Given the description of an element on the screen output the (x, y) to click on. 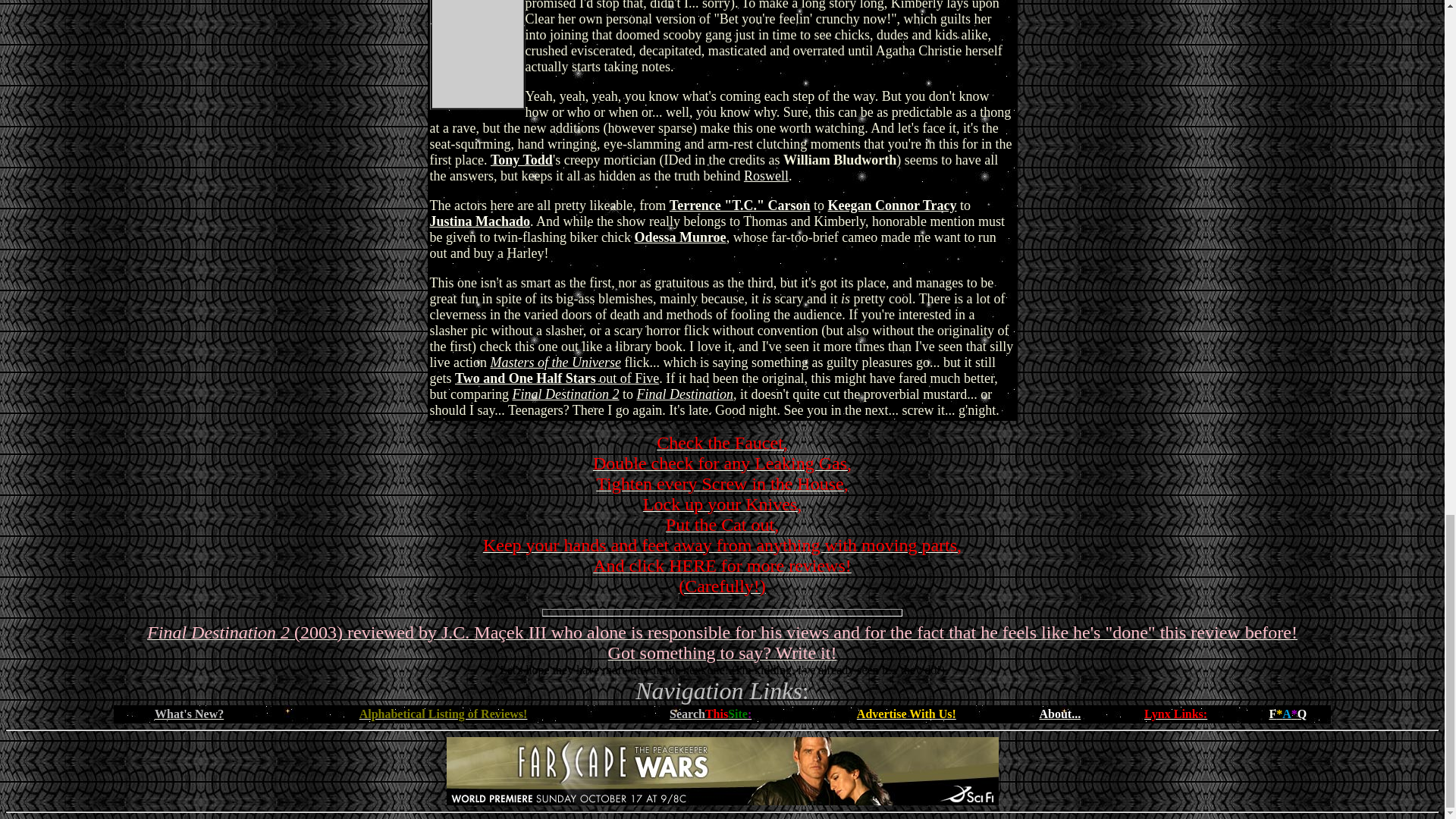
Advertise With Us! (906, 713)
Tony Todd (521, 159)
SearchThisSite: (710, 713)
Alphabetical Listing of Reviews! (443, 713)
Odessa Munroe (679, 237)
Keegan Connor Tracy (892, 205)
Masters of the Universe (554, 362)
Advertisement (721, 771)
Justina Machado (479, 221)
Terrence "T.C." Carson (739, 205)
Lynx Links: (1175, 713)
What's New? (189, 713)
Two and One Half Stars out of Five (556, 378)
Final Destination 2 (565, 394)
Final Destination (685, 394)
